Given the description of an element on the screen output the (x, y) to click on. 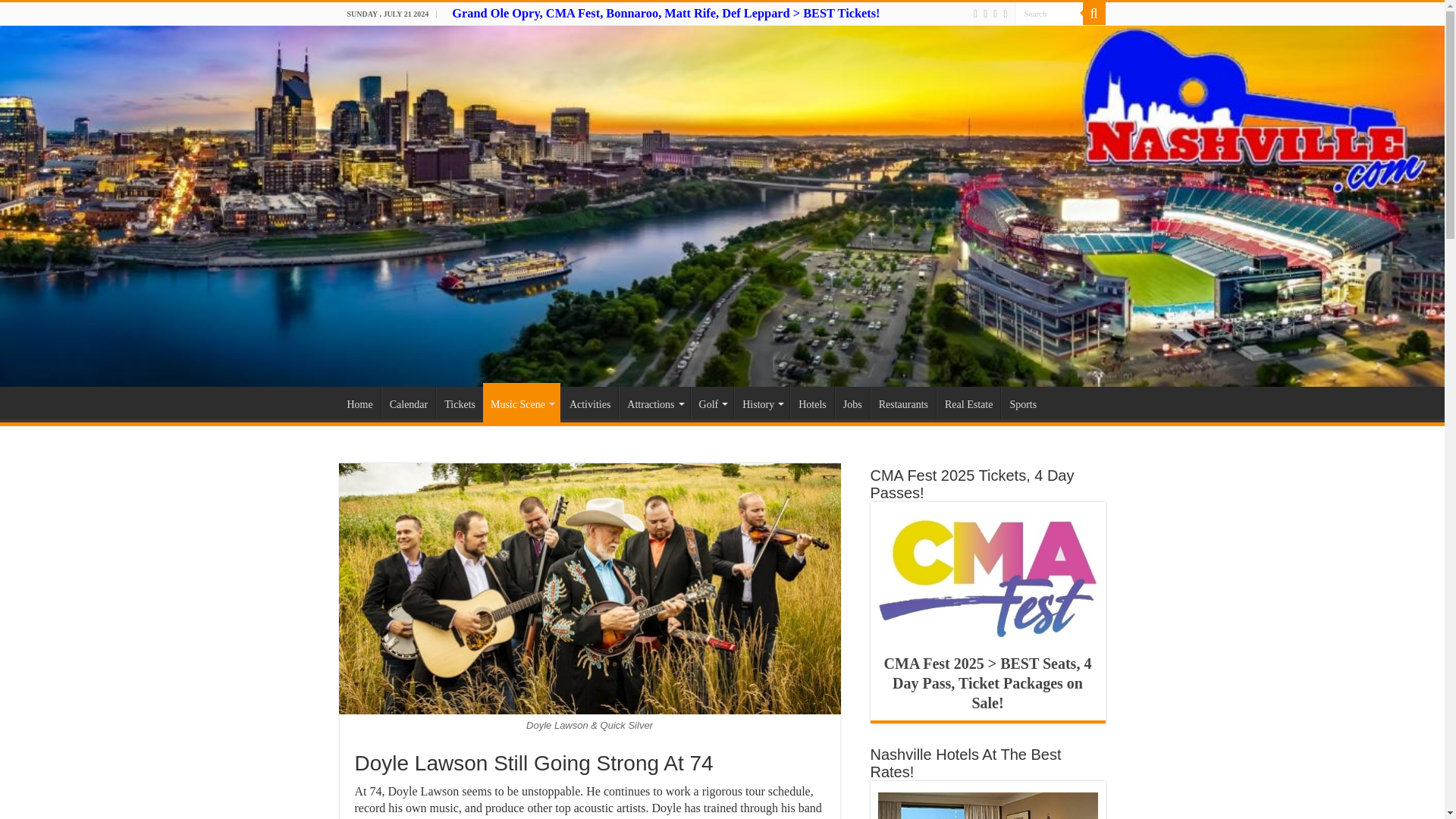
Search (1048, 13)
Search (1048, 13)
Search (1048, 13)
